Given the description of an element on the screen output the (x, y) to click on. 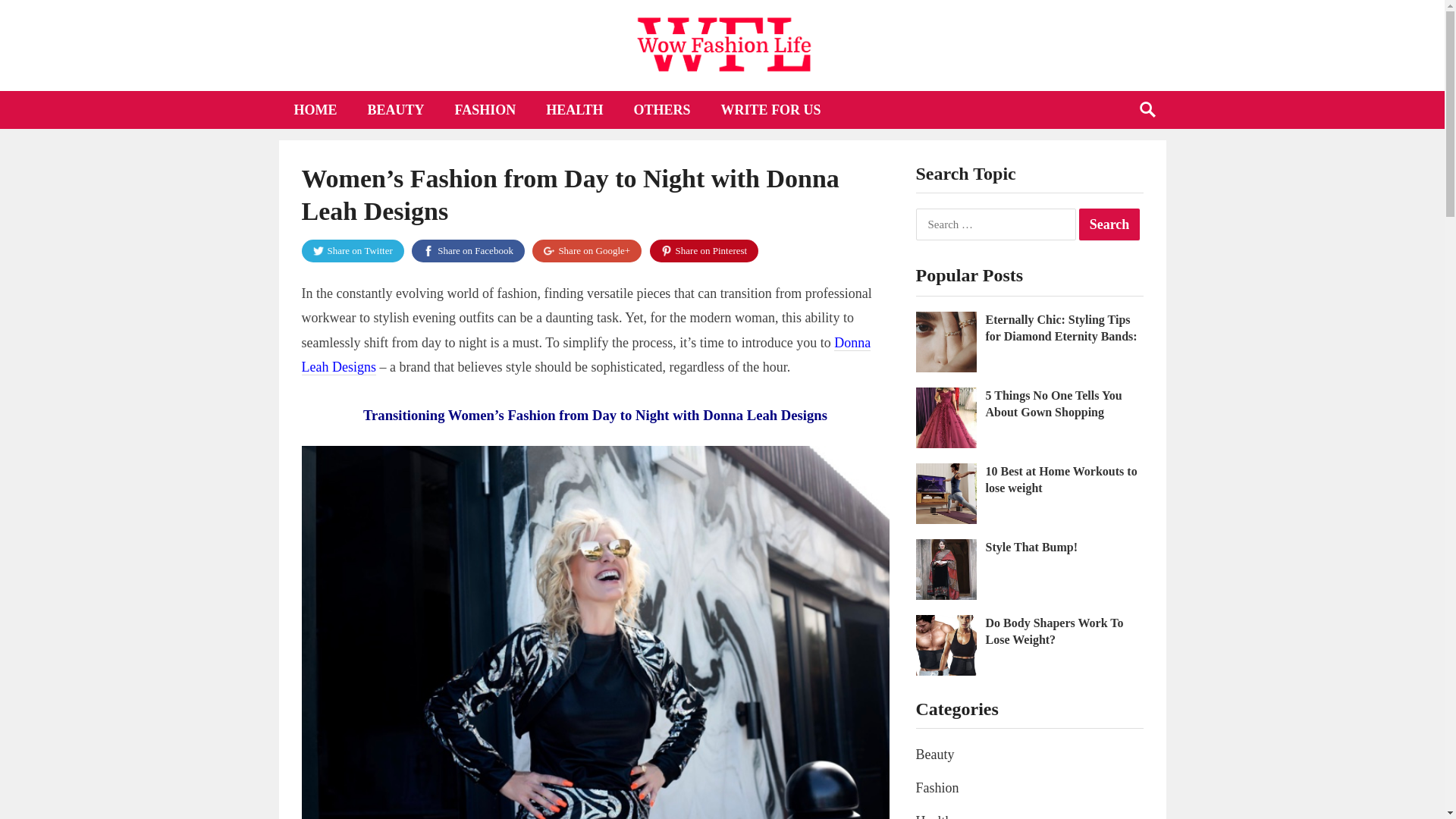
WRITE FOR US (770, 109)
Share on Pinterest (703, 250)
Search (1109, 224)
Donna Leah Designs (585, 354)
OTHERS (662, 109)
HOME (315, 109)
Search (1109, 224)
BEAUTY (395, 109)
Share on Facebook (468, 250)
HEALTH (574, 109)
